Given the description of an element on the screen output the (x, y) to click on. 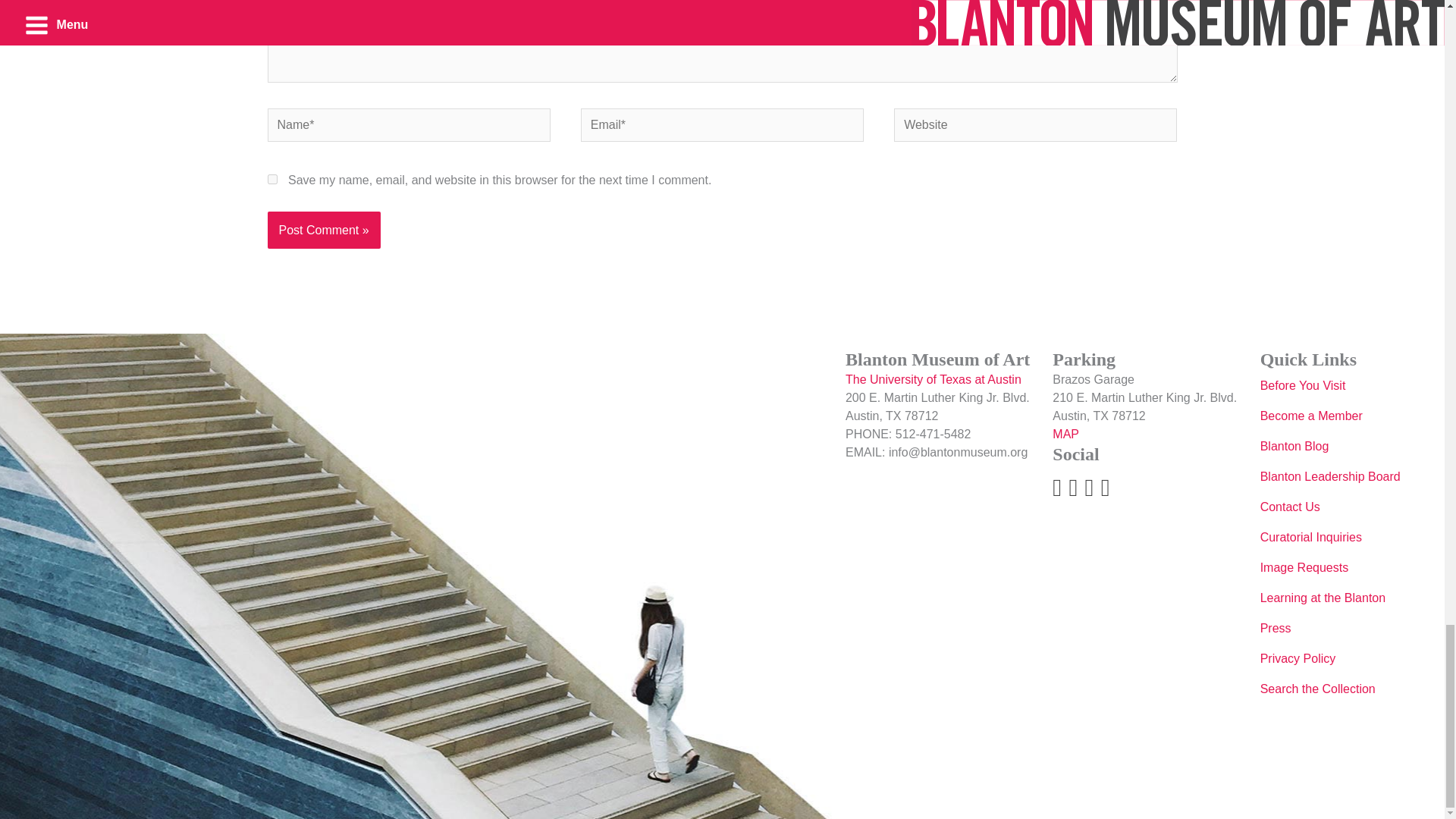
yes (271, 179)
